Given the description of an element on the screen output the (x, y) to click on. 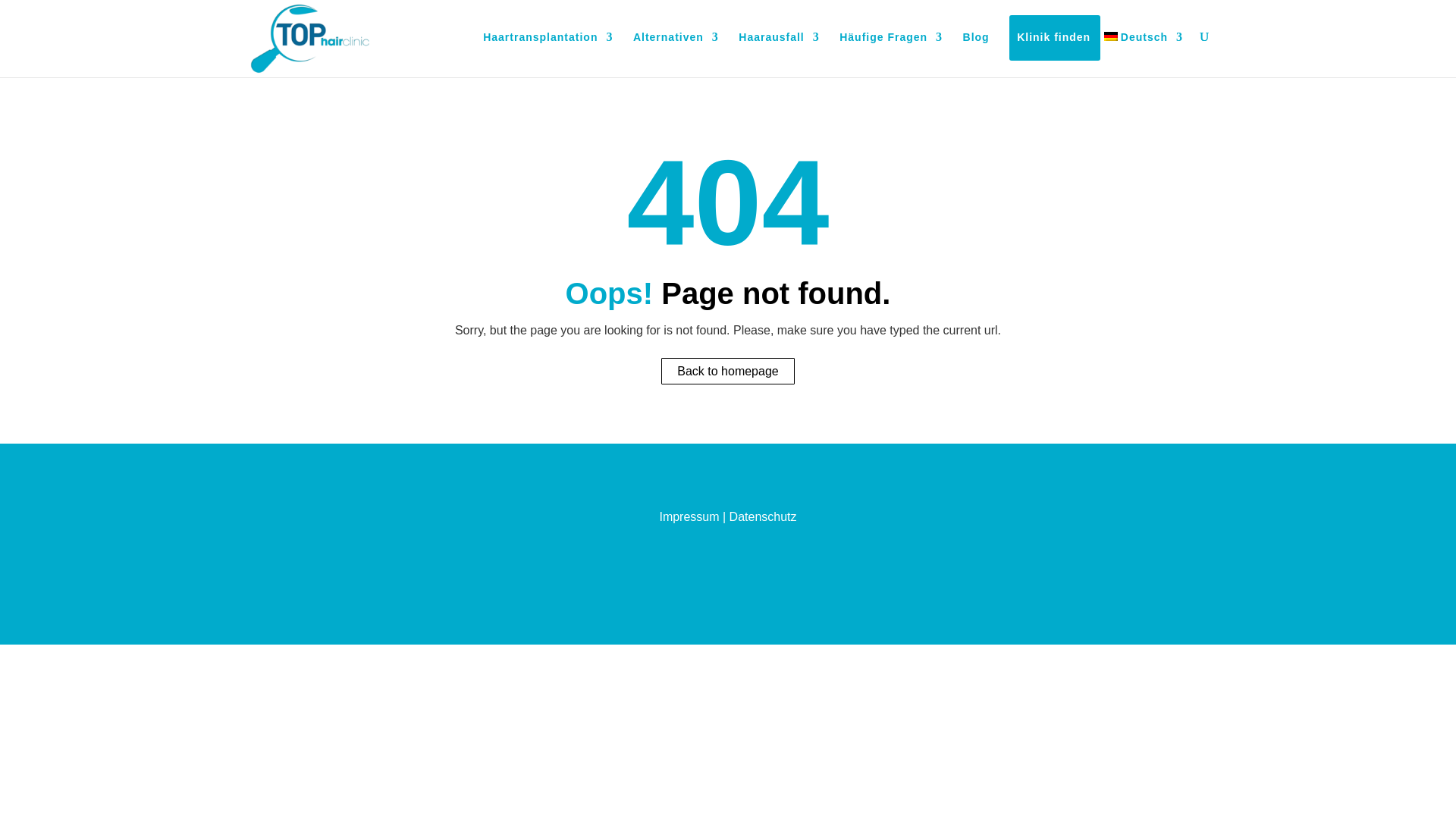
Deutsch (1110, 35)
Haartransplantation (547, 53)
Deutsch (1142, 53)
